Given the description of an element on the screen output the (x, y) to click on. 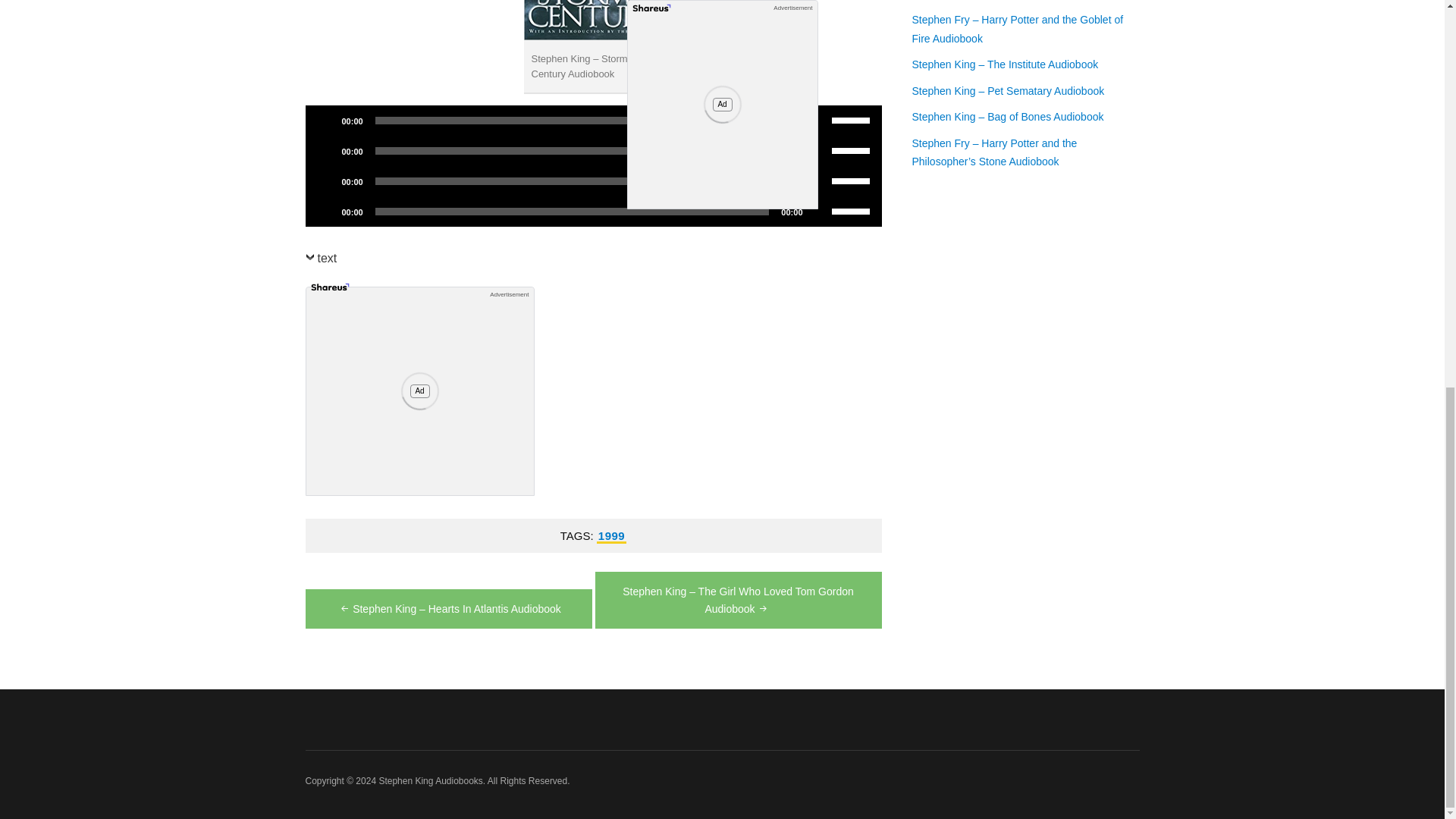
Mute (818, 181)
Play (324, 120)
Play (324, 150)
Mute (818, 150)
Play (324, 181)
Mute (818, 120)
Play (324, 211)
text (320, 261)
Mute (818, 211)
